Given the description of an element on the screen output the (x, y) to click on. 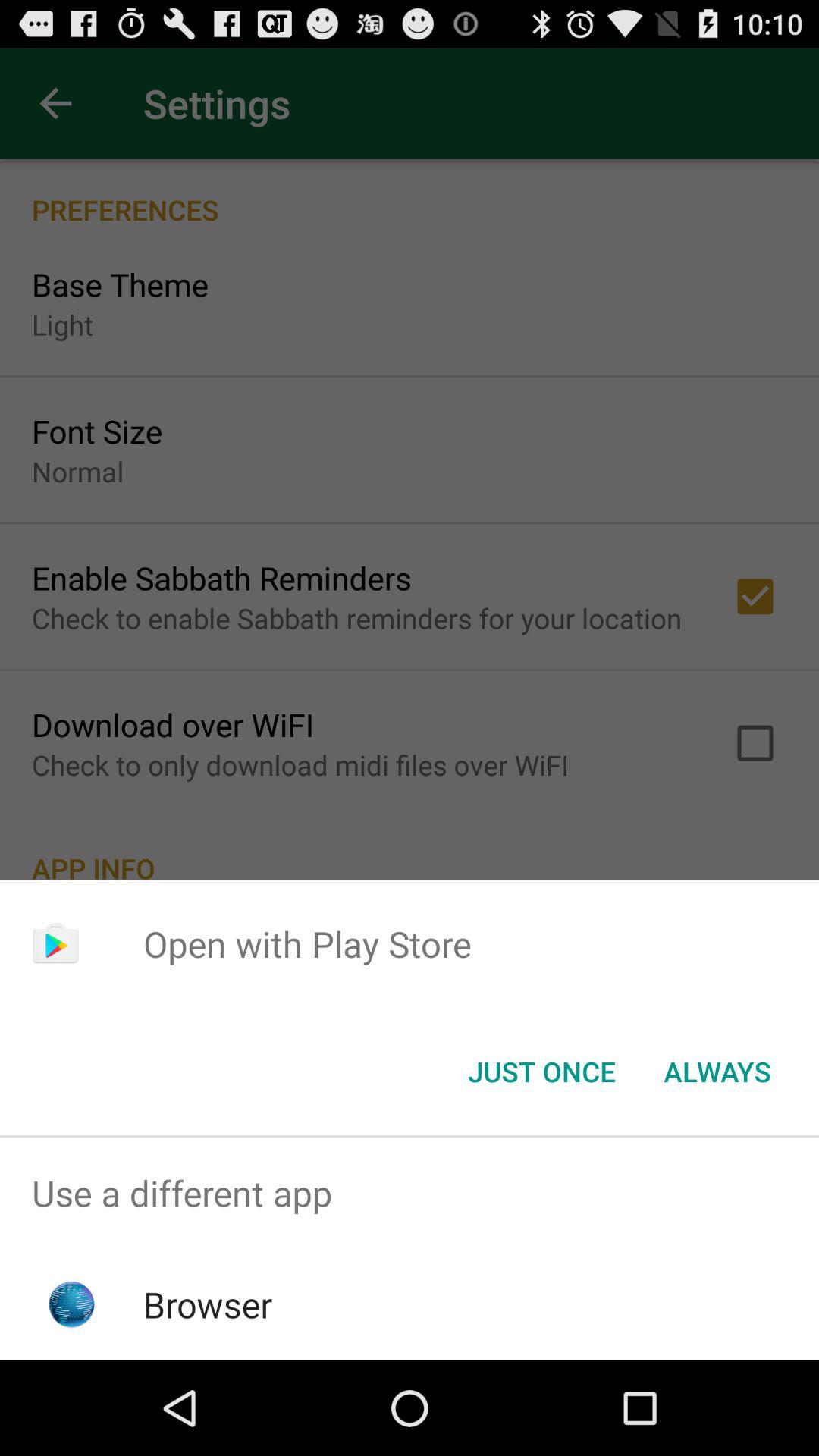
open button next to the always icon (541, 1071)
